Given the description of an element on the screen output the (x, y) to click on. 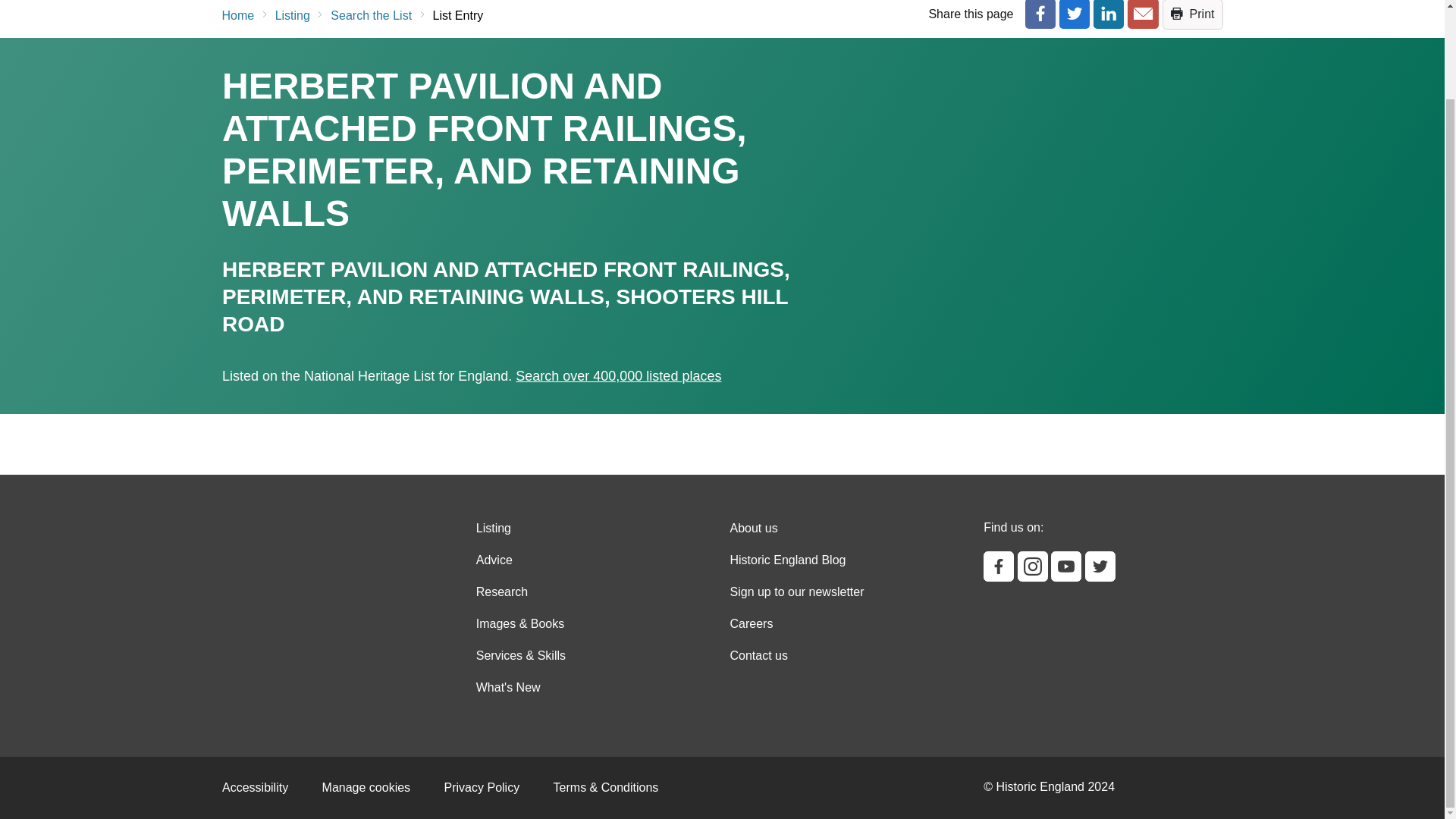
Share this page by Email (1141, 14)
Share this page on LinkedIn (1108, 14)
Share this page on Twitter (1073, 14)
Print this page (1192, 14)
Share this page on Facebook (1040, 14)
